Given the description of an element on the screen output the (x, y) to click on. 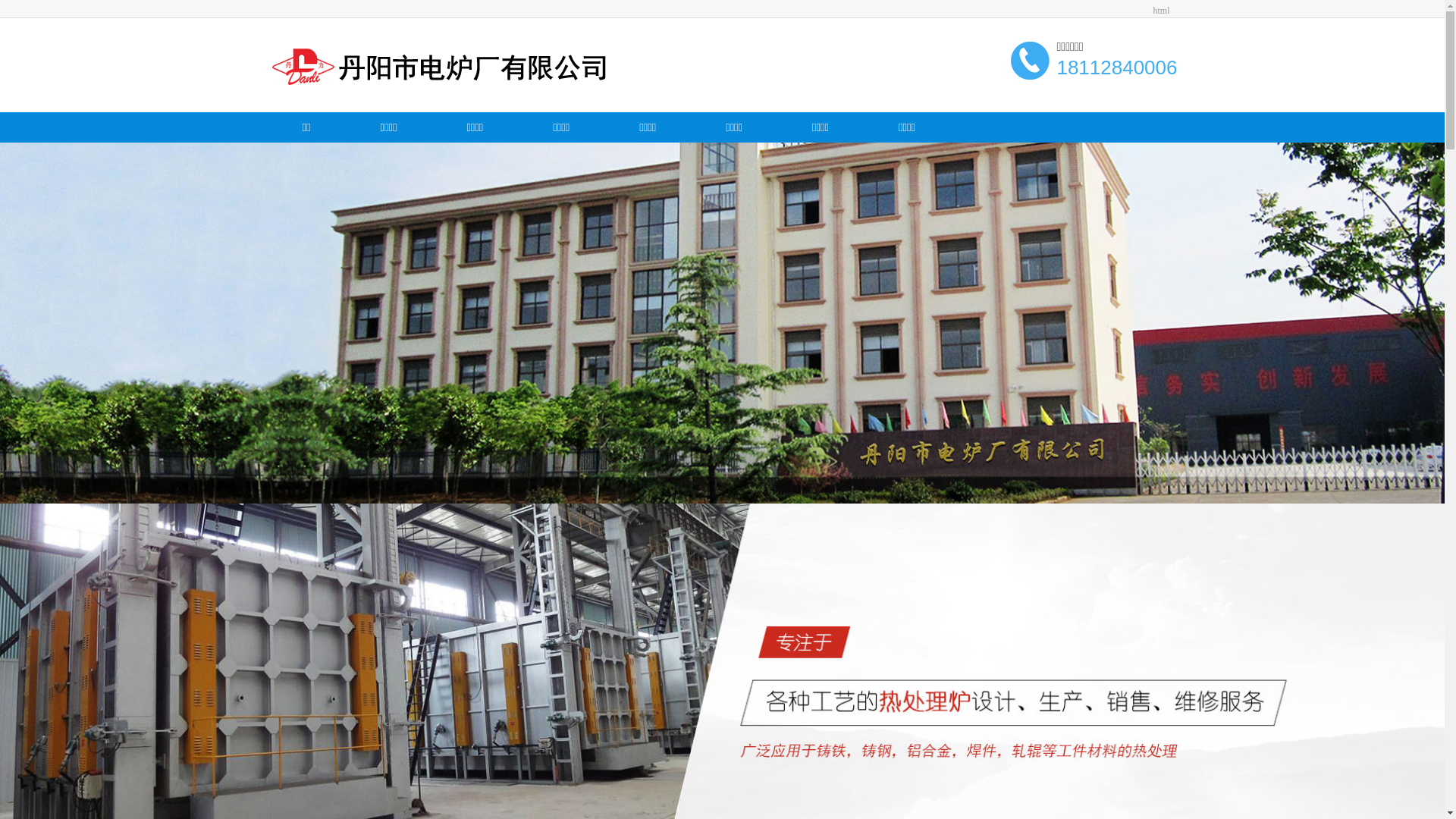
html Element type: text (1160, 10)
